Given the description of an element on the screen output the (x, y) to click on. 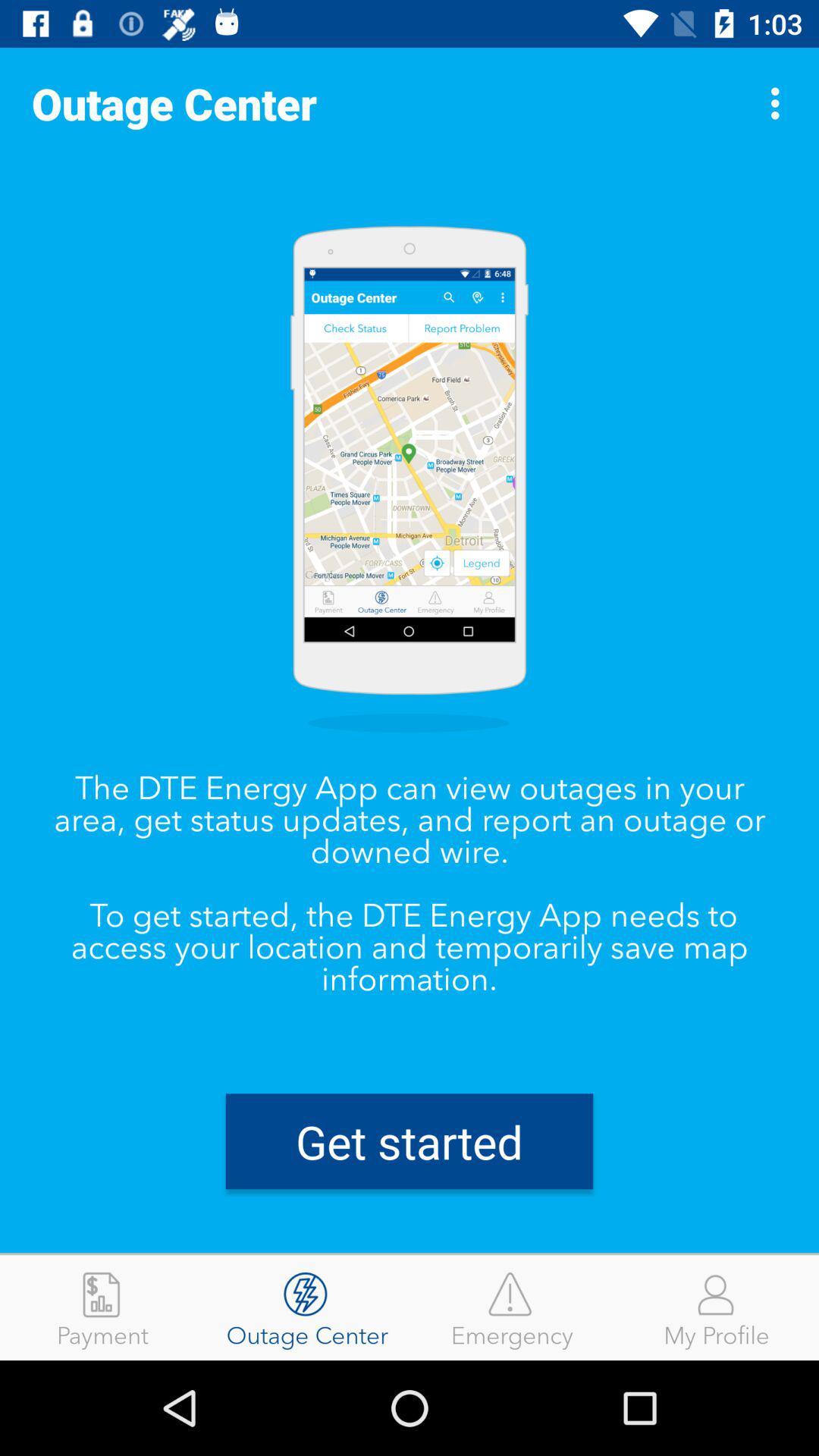
launch item next to emergency icon (716, 1307)
